Given the description of an element on the screen output the (x, y) to click on. 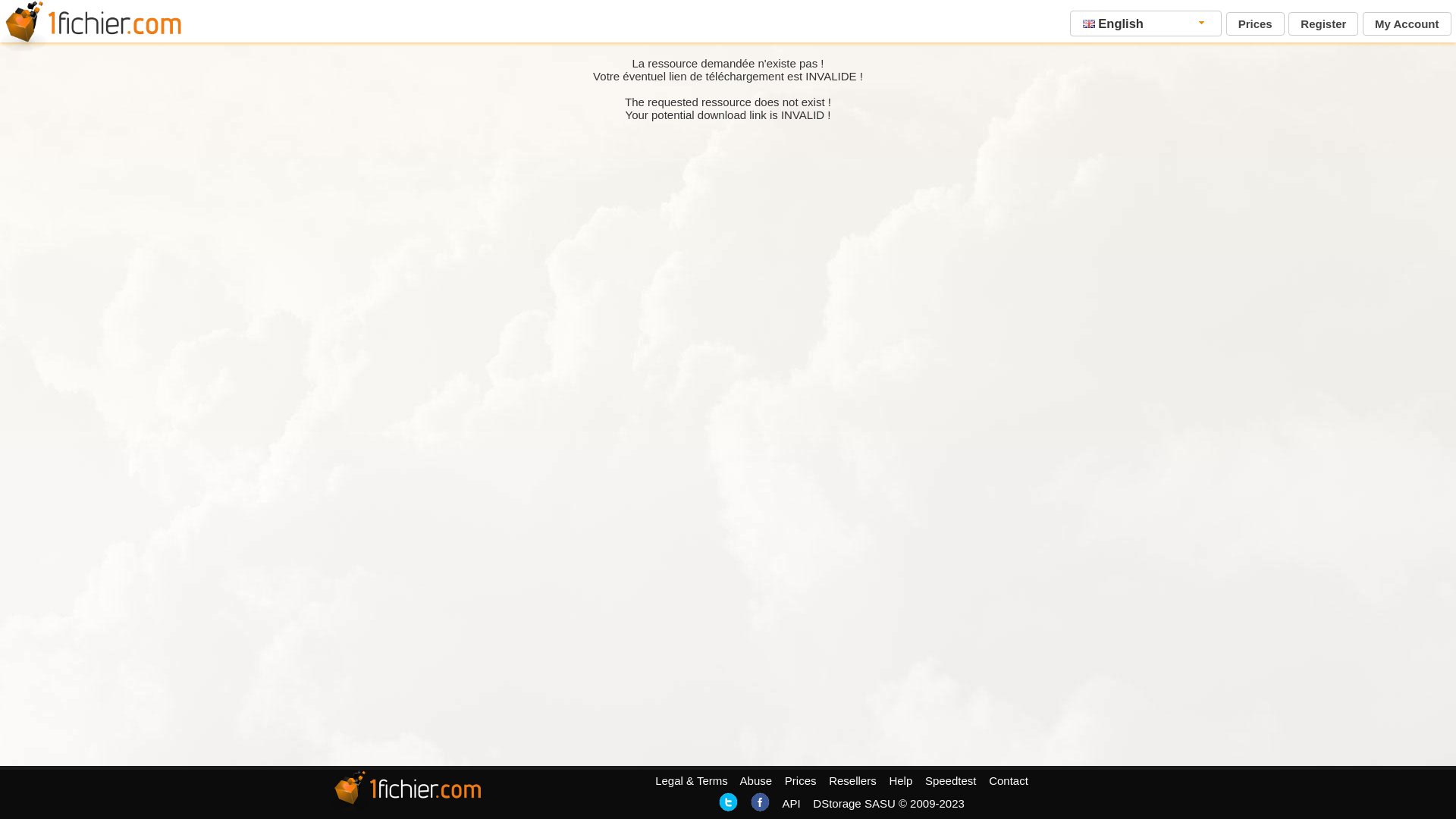
Help Element type: text (900, 780)
Speedtest Element type: text (950, 780)
Prices Element type: text (800, 780)
Legal & Terms Element type: text (691, 780)
My Account Element type: text (1406, 23)
Register Element type: text (1323, 23)
Resellers Element type: text (852, 780)
Prices Element type: text (1255, 23)
Abuse Element type: text (756, 780)
Contact Element type: text (1008, 780)
API Element type: text (790, 803)
